Given the description of an element on the screen output the (x, y) to click on. 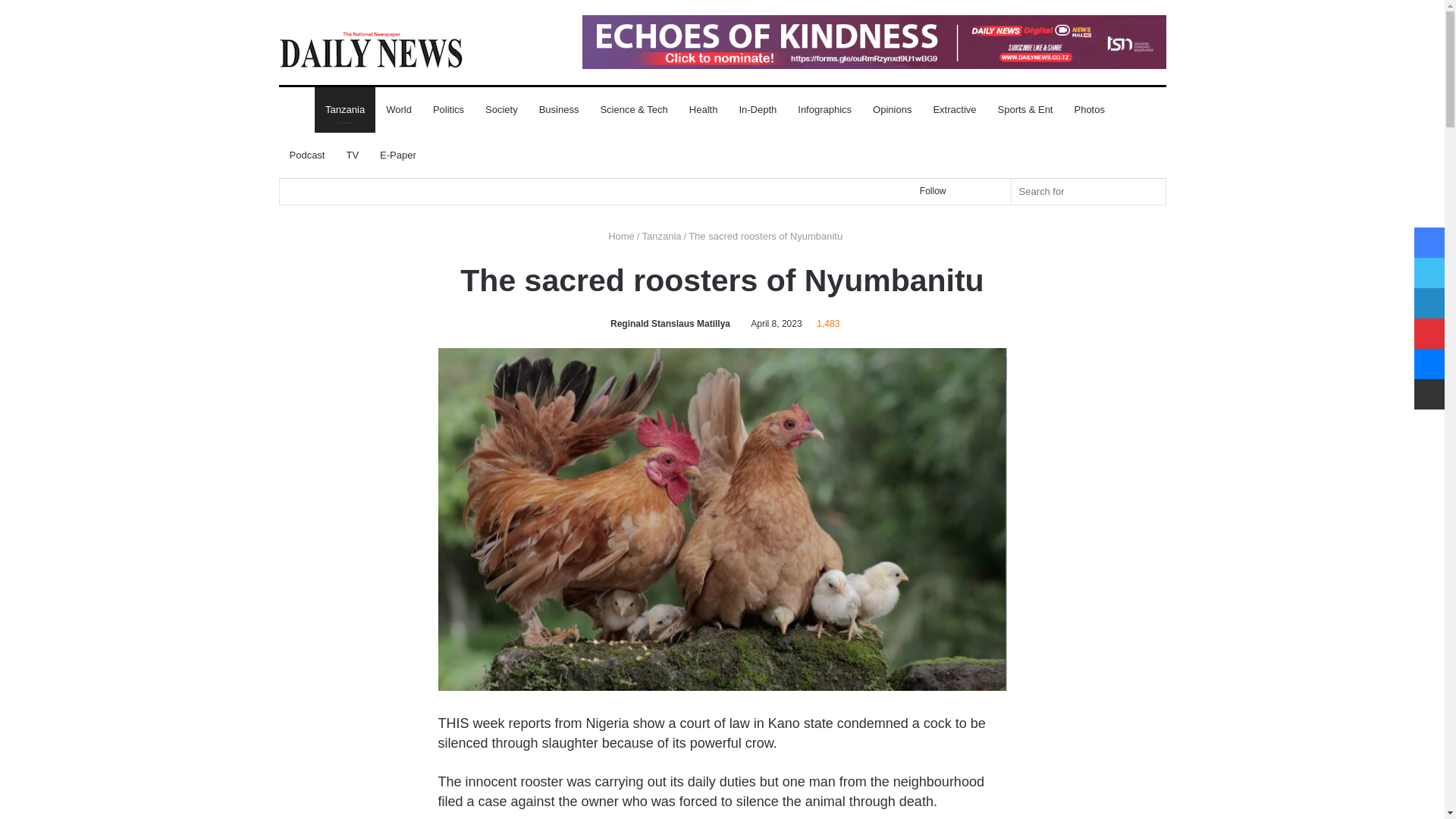
Reginald Stanslaus Matillya (667, 323)
Daily News (371, 48)
Extractive (954, 109)
World (398, 109)
Infographics (824, 109)
Tanzania (344, 109)
E-Paper (397, 155)
Photos (1088, 109)
Search for (1149, 191)
Podcast (307, 155)
Home (618, 235)
Reginald Stanslaus Matillya (667, 323)
Business (558, 109)
Society (501, 109)
Politics (448, 109)
